Given the description of an element on the screen output the (x, y) to click on. 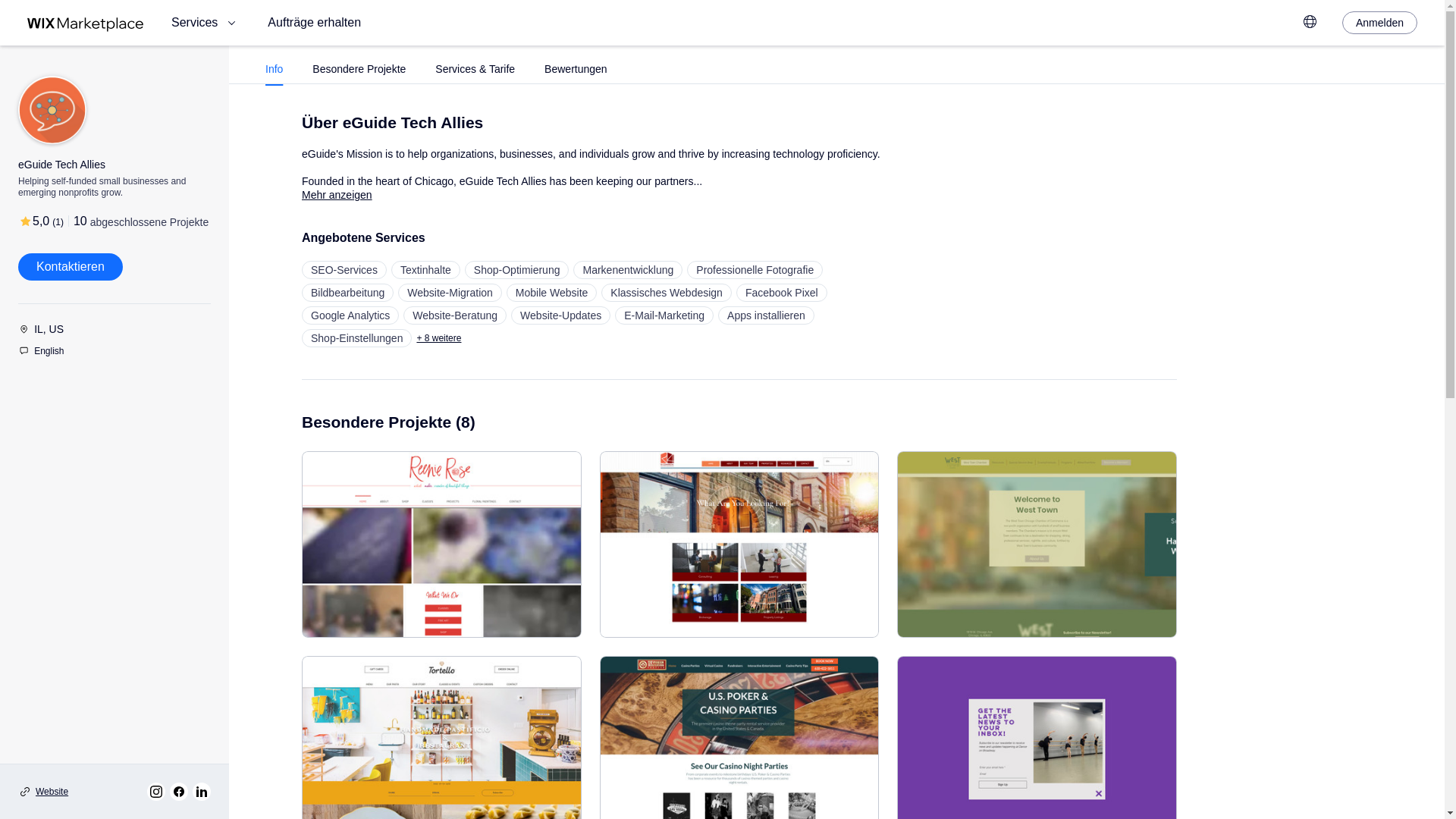
Anmelden (1379, 22)
Services (205, 22)
